Given the description of an element on the screen output the (x, y) to click on. 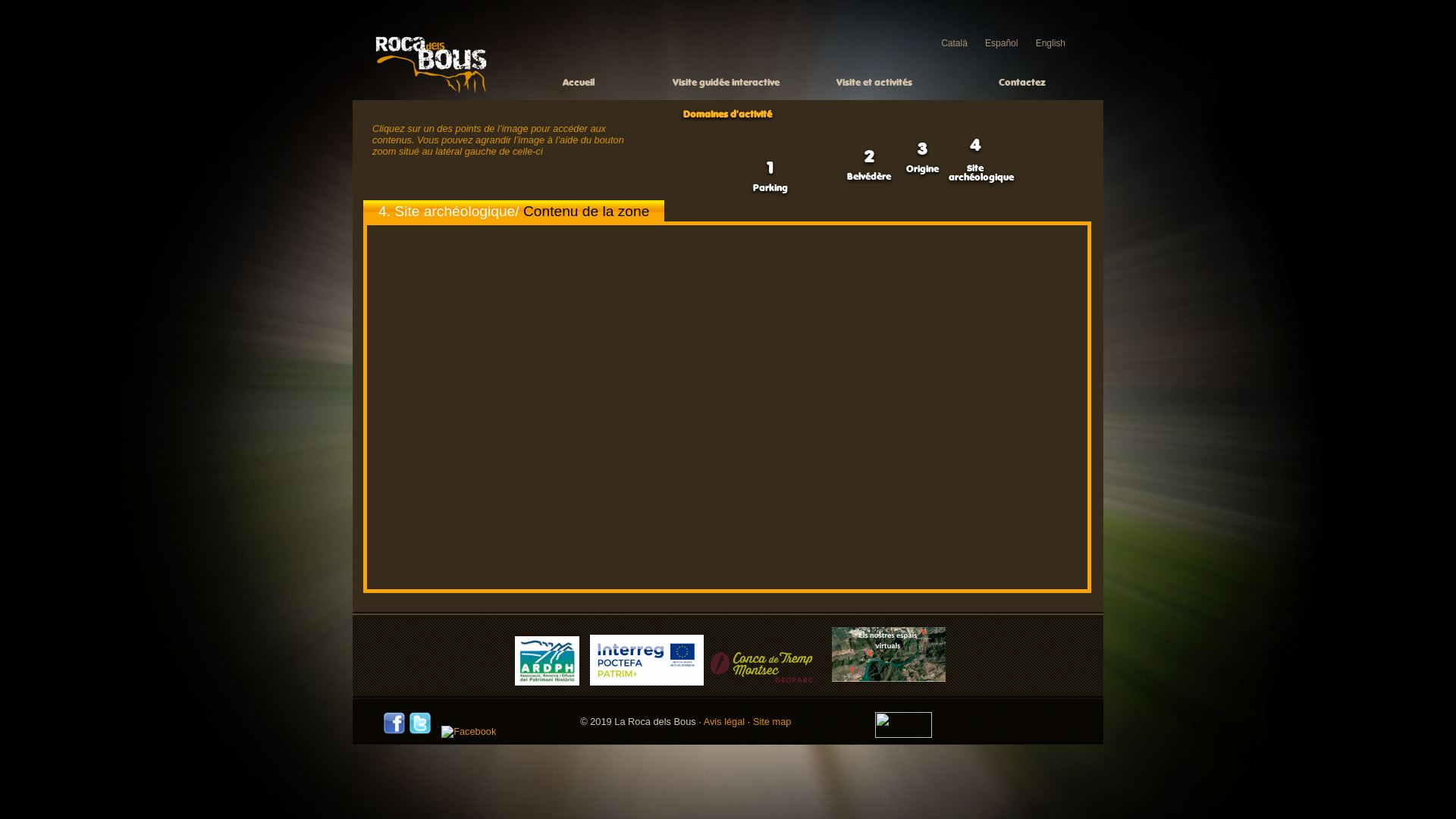
4 Element type: text (975, 145)
1 Element type: text (770, 168)
Comparteix a Facebook Element type: hover (464, 731)
Twitter Element type: hover (419, 731)
Contactez Element type: text (1021, 83)
Accueil Element type: hover (430, 91)
Twitter Element type: hover (419, 723)
Facebook Element type: hover (393, 731)
3 Element type: text (922, 149)
Accueil Element type: text (578, 83)
Facebook Element type: hover (393, 723)
English Element type: text (1050, 42)
Site map Element type: text (772, 721)
2 Element type: text (869, 156)
Facebook Element type: hover (468, 731)
